Given the description of an element on the screen output the (x, y) to click on. 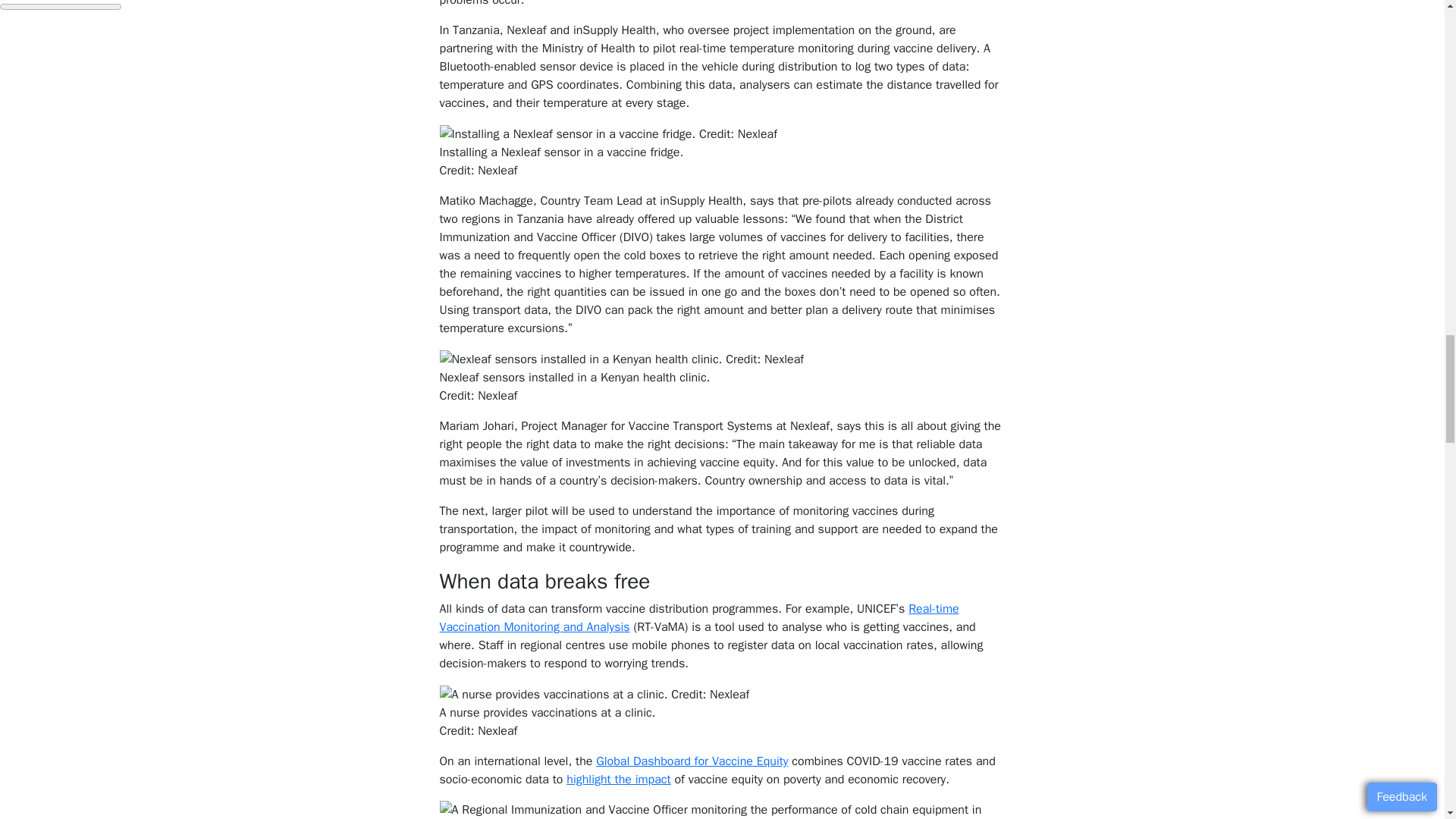
Real-time Vaccination Monitoring and Analysis (699, 617)
